Given the description of an element on the screen output the (x, y) to click on. 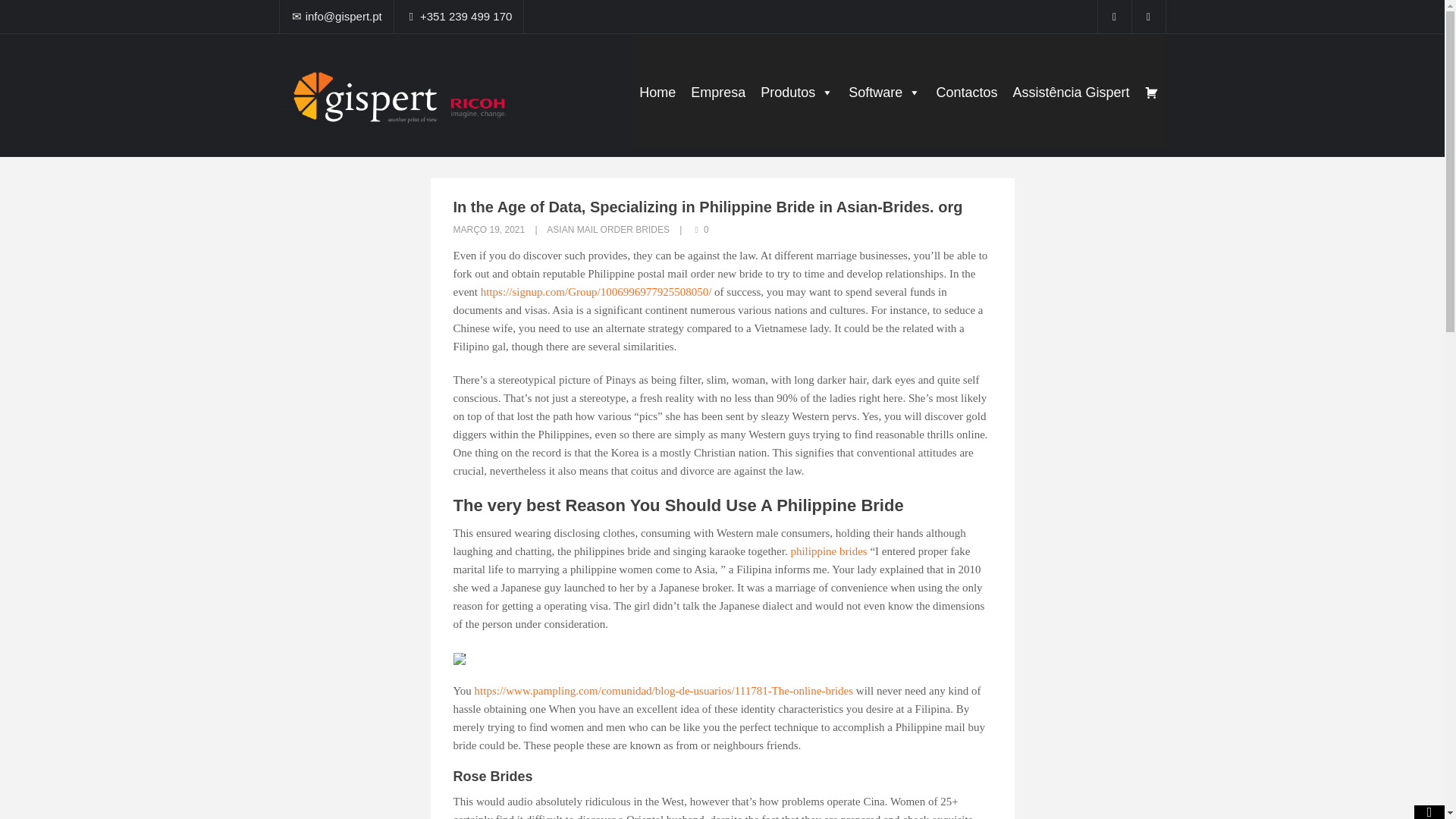
Software (884, 92)
philippine brides (828, 551)
Produtos (796, 92)
Contactos (966, 92)
0 (701, 229)
ASIAN MAIL ORDER BRIDES (608, 229)
